Given the description of an element on the screen output the (x, y) to click on. 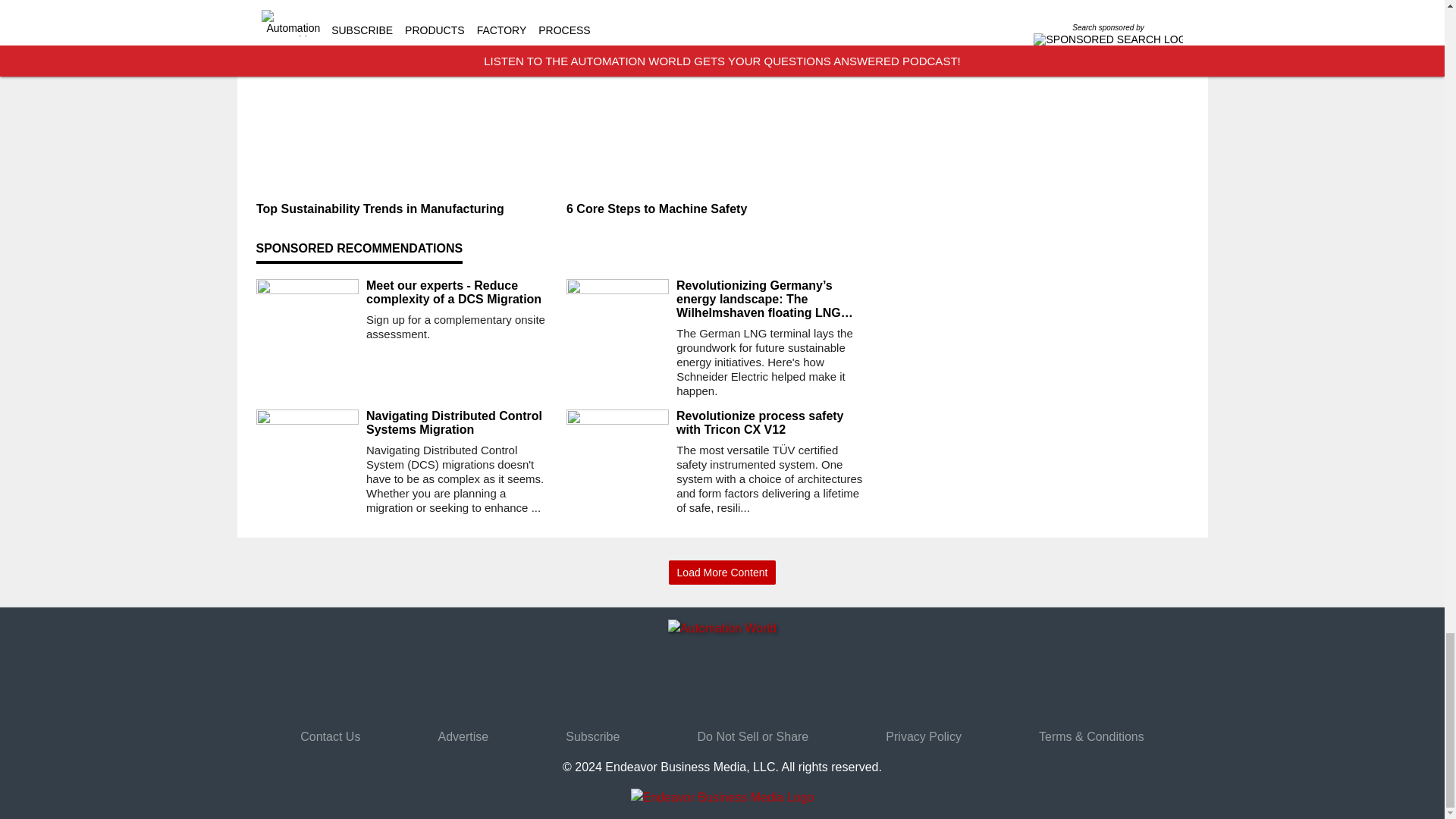
Revolutionize process safety with Tricon CX V12 (770, 422)
Meet our experts - Reduce complexity of a DCS Migration (459, 292)
6 Core Steps to Machine Safety (715, 209)
Top Sustainability Trends in Manufacturing (405, 209)
Navigating Distributed Control Systems Migration (459, 422)
